Given the description of an element on the screen output the (x, y) to click on. 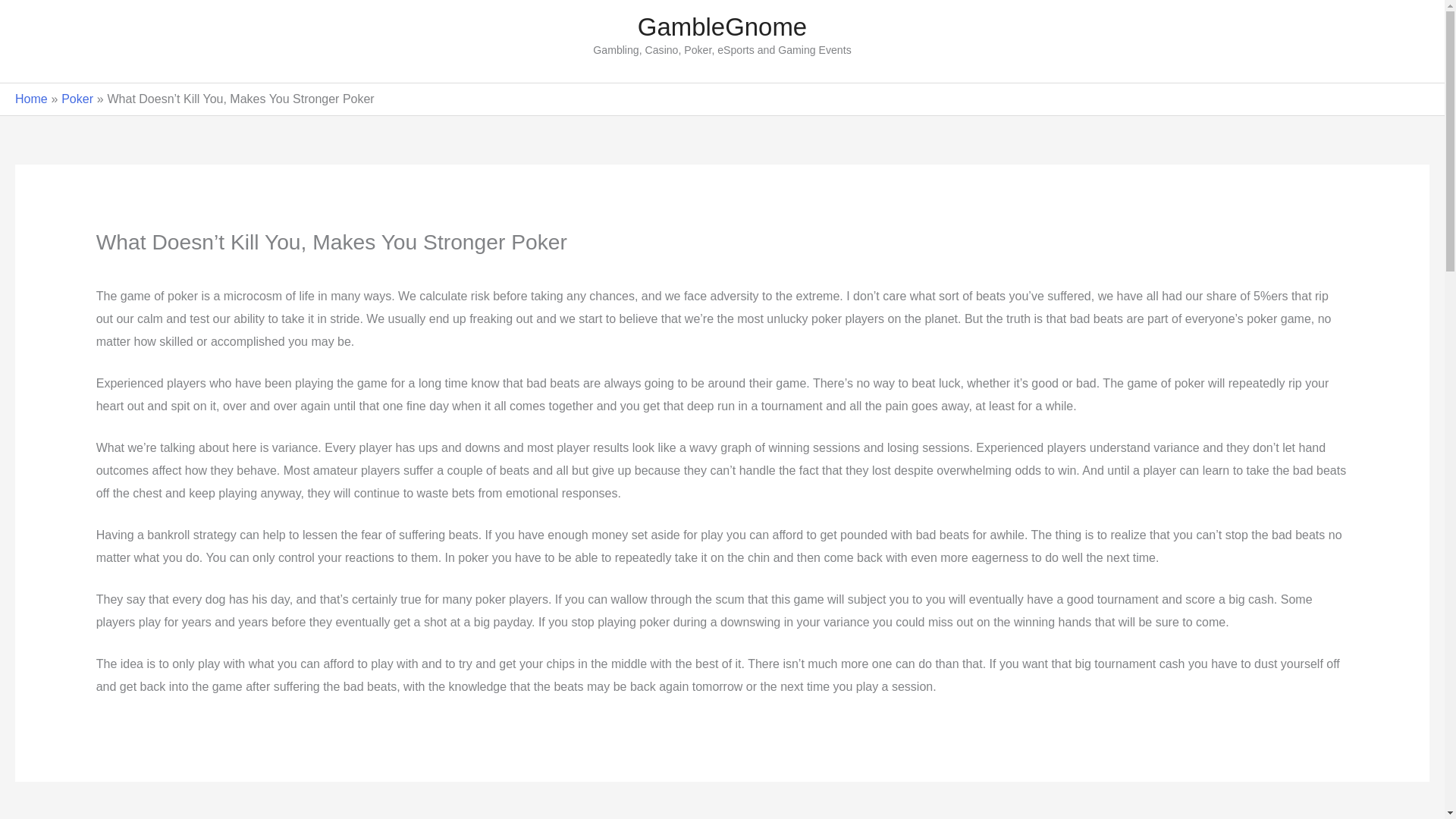
Home (721, 26)
Poker (31, 98)
Poker (77, 98)
GambleGnome (77, 98)
Home (721, 26)
